Given the description of an element on the screen output the (x, y) to click on. 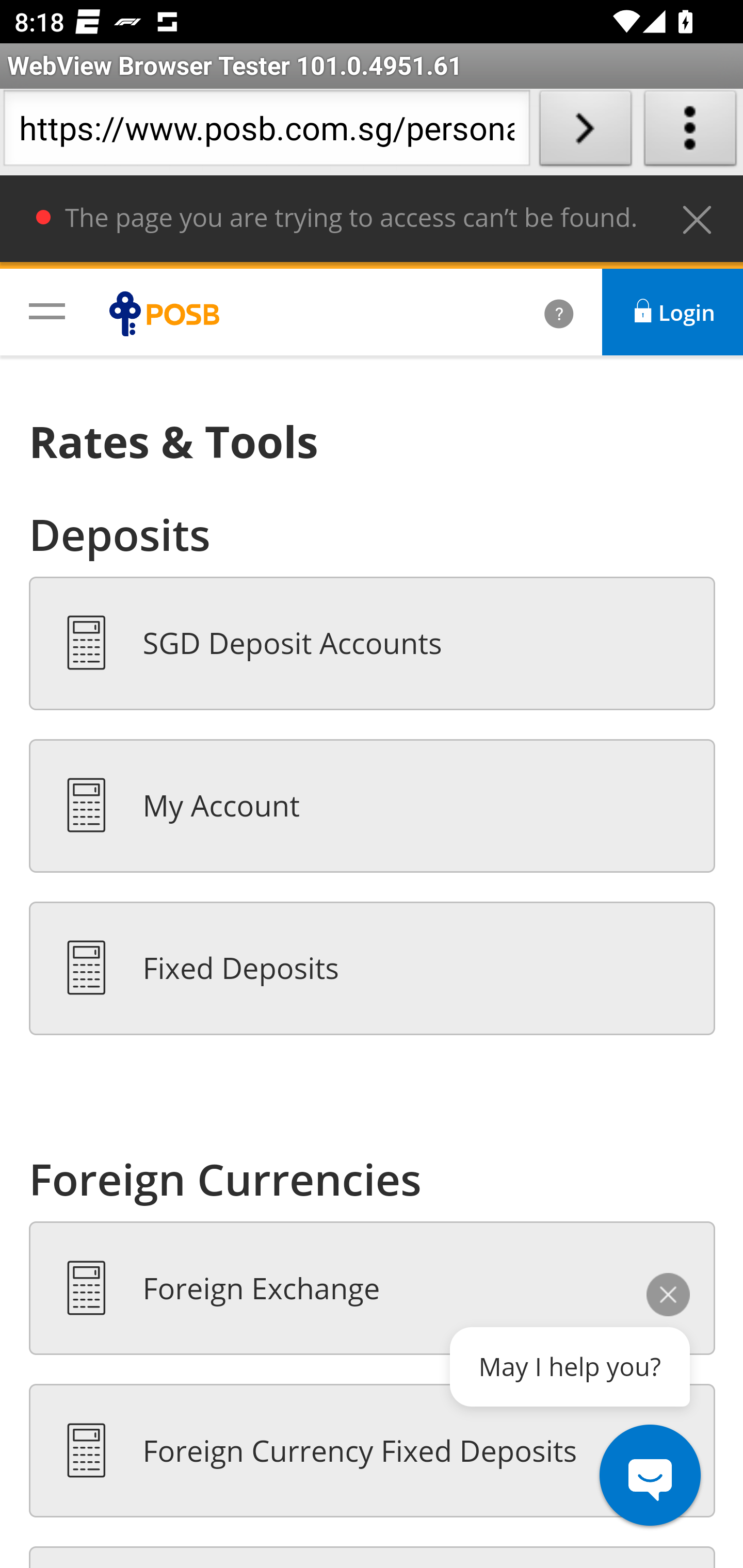
Load URL (585, 132)
About WebView (690, 132)
 (697, 215)
POSB logo (169, 313)
javascript:void(0); (46, 310)
ﱲ (537, 313)
Login  Login (673, 311)
 SGD Deposit Accounts  SGD Deposit Accounts (372, 643)
 My Account  My Account (372, 805)
 Fixed Deposits  Fixed Deposits (372, 968)
 Foreign Exchange  Foreign Exchange (372, 1287)
